Given the description of an element on the screen output the (x, y) to click on. 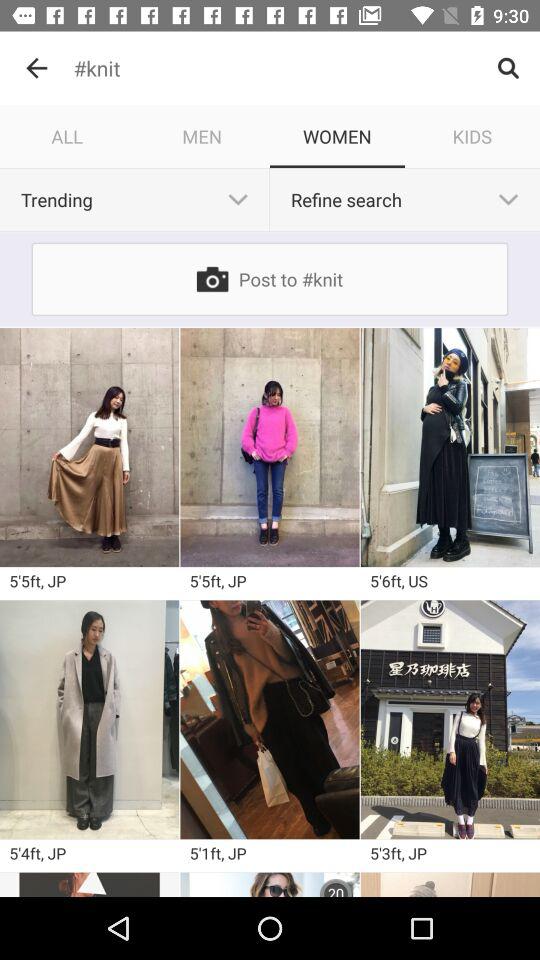
open photo (269, 447)
